Given the description of an element on the screen output the (x, y) to click on. 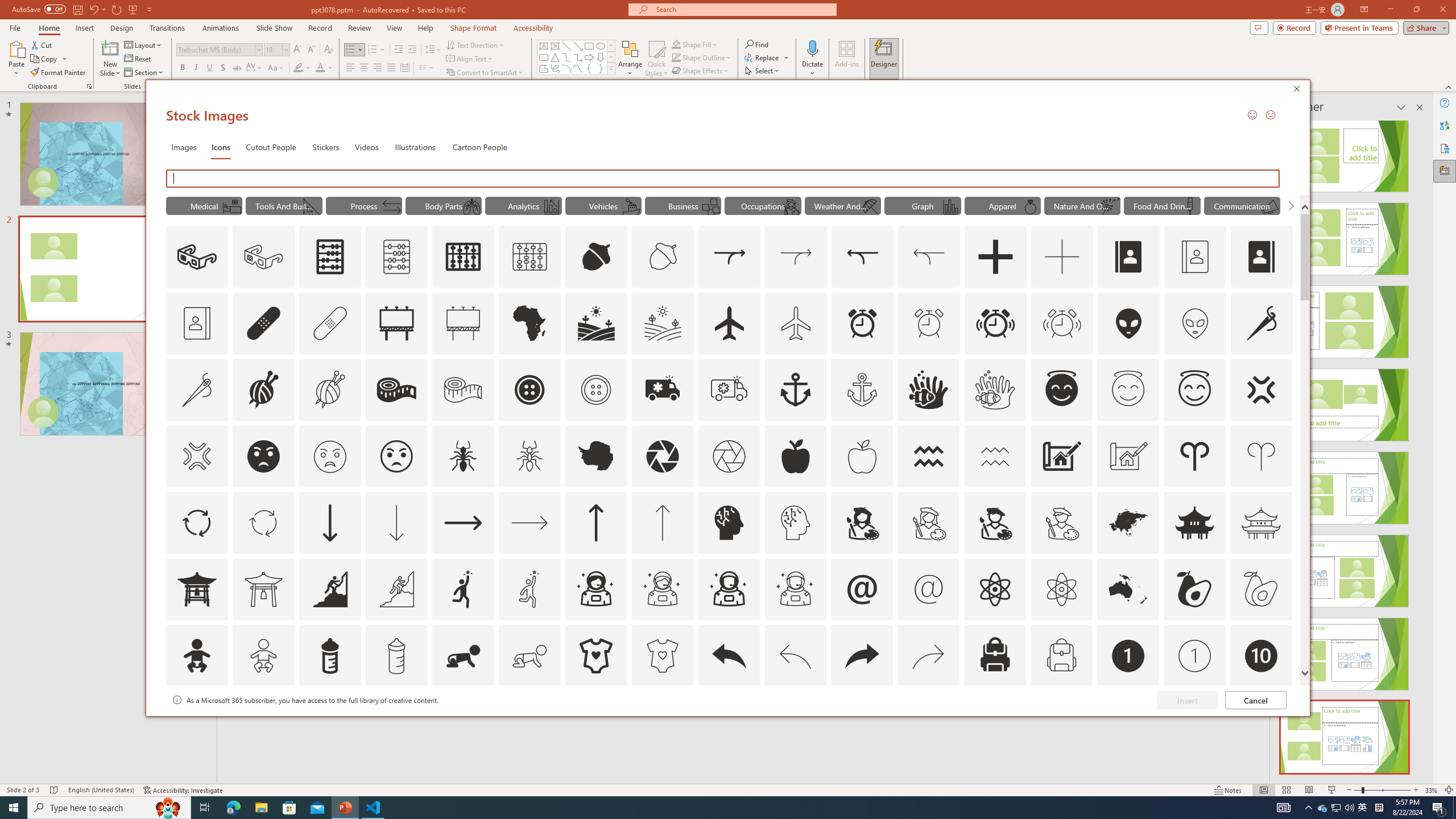
AutomationID: Icons_ArtificialIntelligence (729, 522)
AutomationID: Icons_Champagne_M (1190, 206)
AutomationID: Icons_AlarmRinging (995, 323)
AutomationID: Icons_AlterationsTailoring1_M (329, 389)
